Given the description of an element on the screen output the (x, y) to click on. 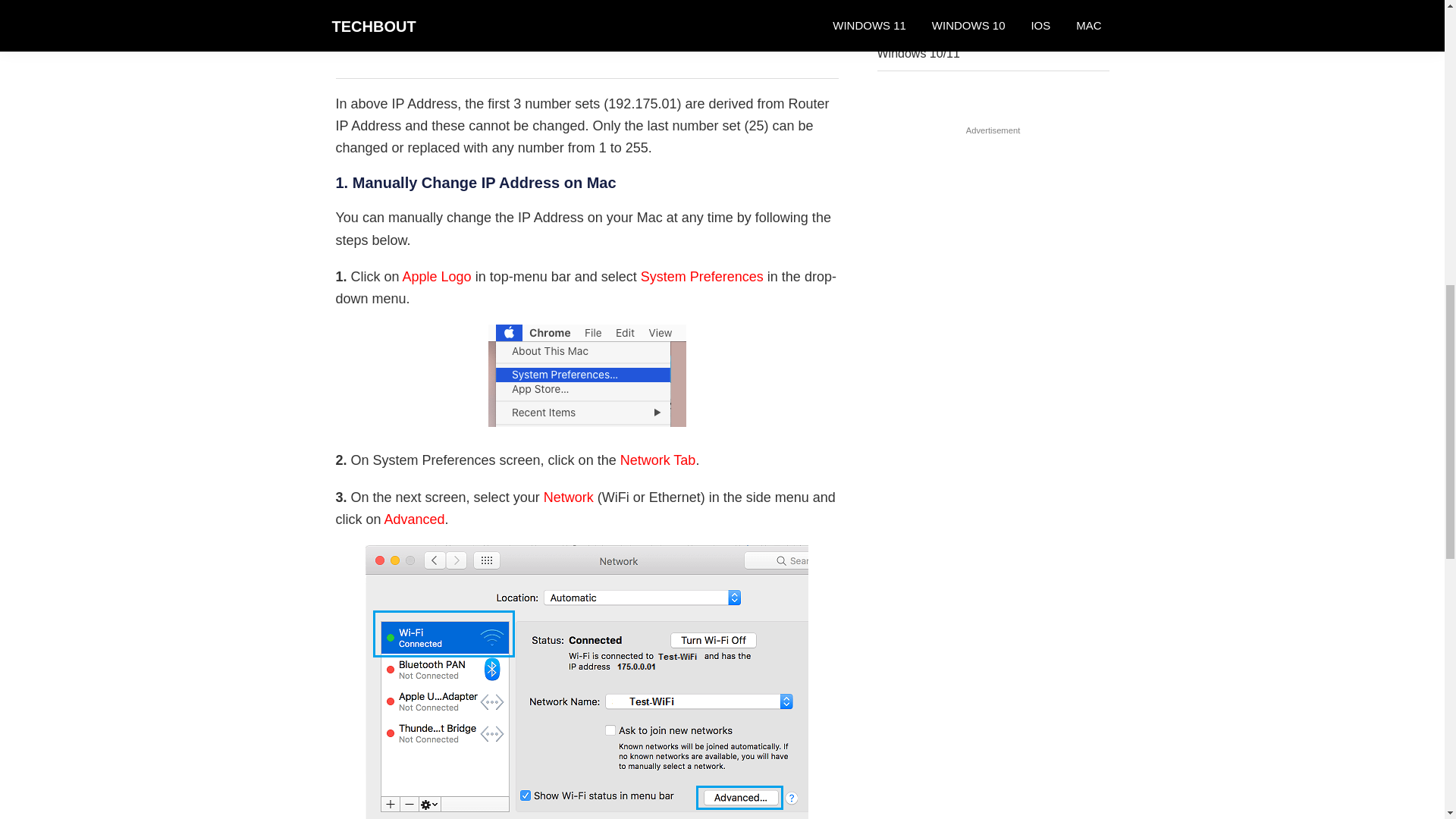
Open System Preferences on Mac (586, 375)
Advertisement (586, 38)
Open Advanced Network Settings on Mac (586, 682)
